Given the description of an element on the screen output the (x, y) to click on. 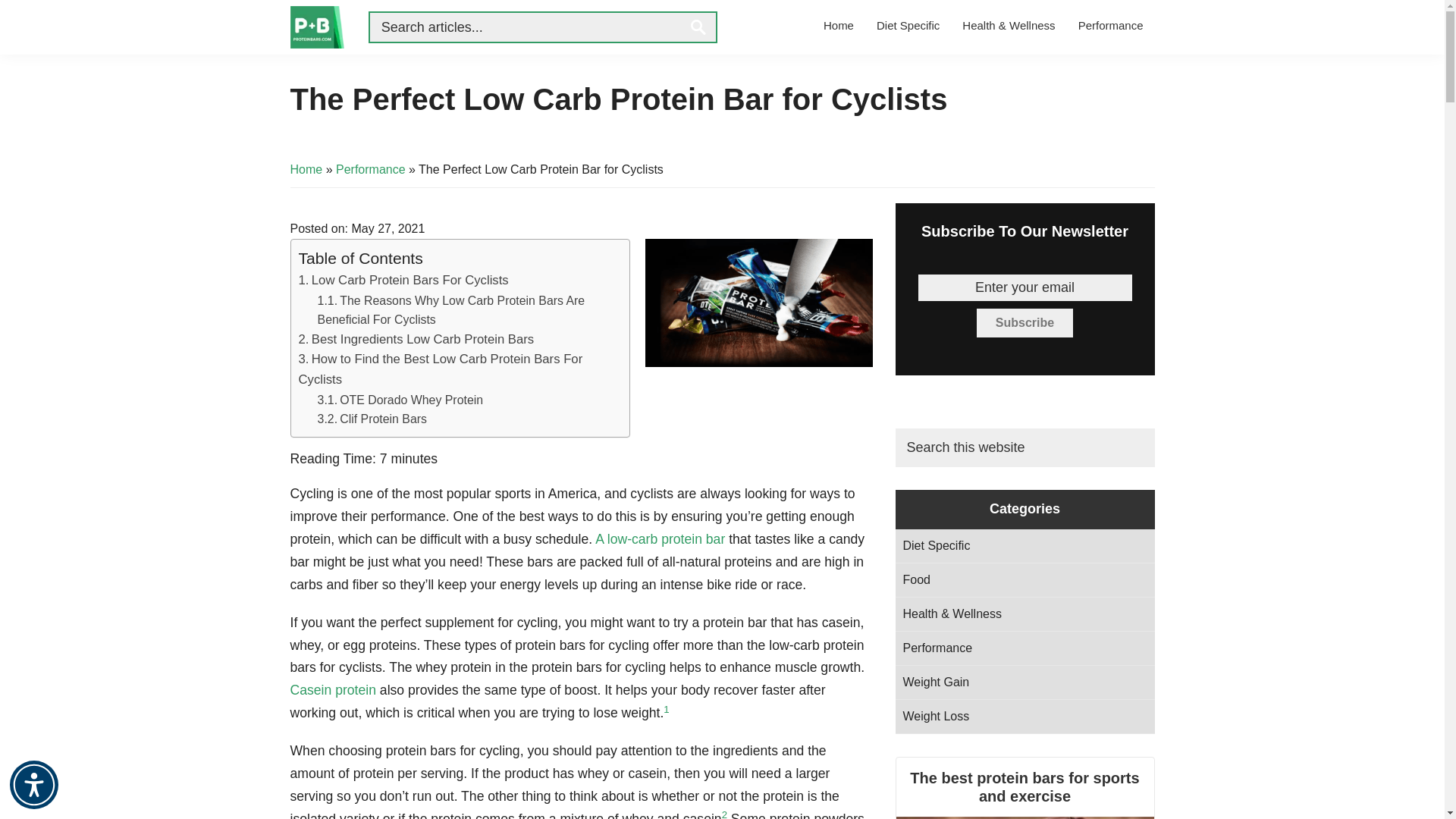
Subscribe (1024, 322)
Diet Specific (907, 25)
How to Find the Best Low Carb Protein Bars For Cyclists (440, 369)
Casein protein (332, 689)
OTE Dorado Whey Protein (400, 399)
The Perfect Low Carb Protein Bar for Cyclists - Protein Bars (758, 302)
Clif Protein Bars (371, 418)
Low Carb Protein Bars For Cyclists (403, 279)
